Given the description of an element on the screen output the (x, y) to click on. 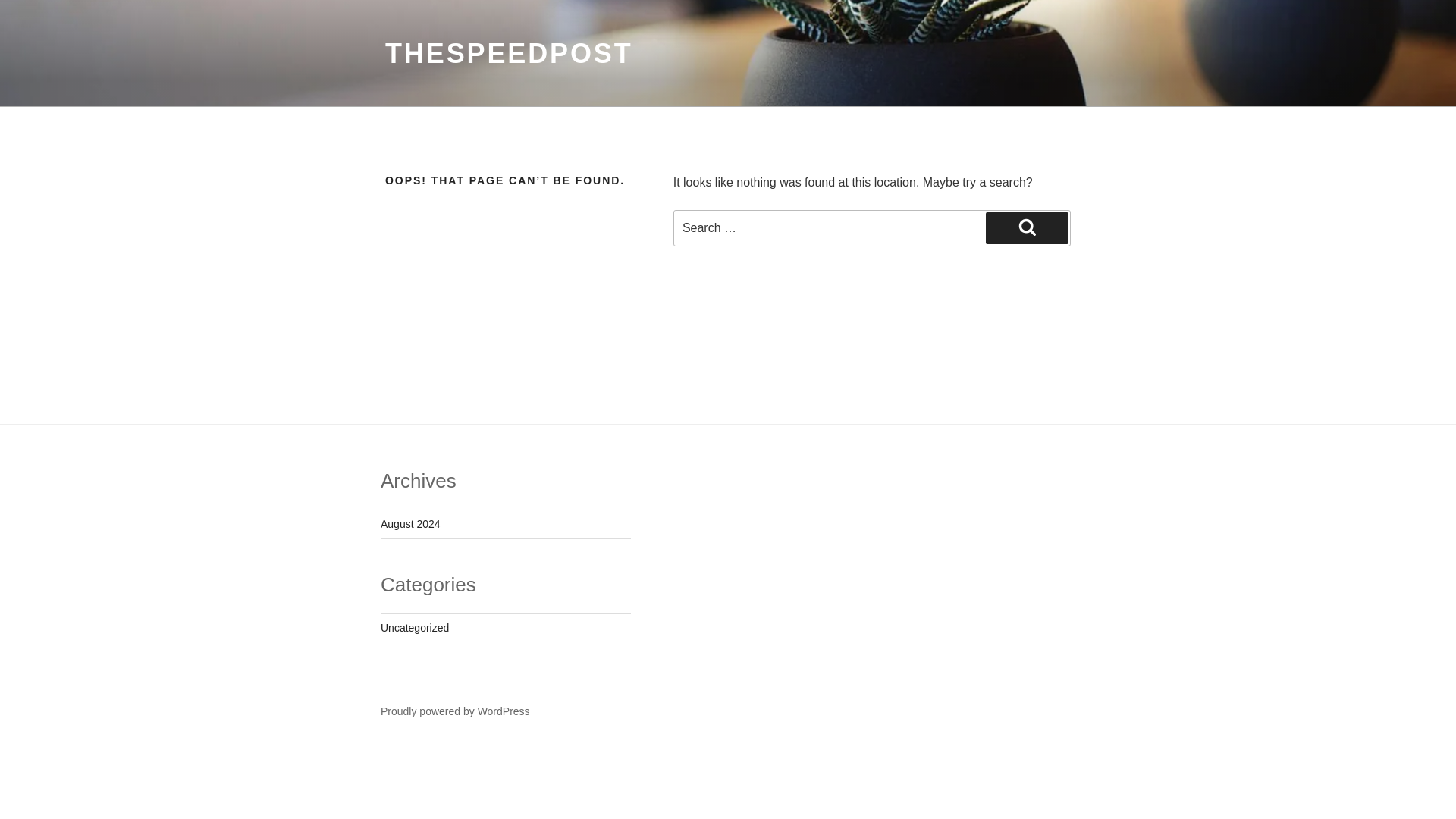
Proudly powered by WordPress (454, 711)
Search (1026, 228)
THESPEEDPOST (509, 52)
Uncategorized (414, 627)
August 2024 (410, 523)
